Given the description of an element on the screen output the (x, y) to click on. 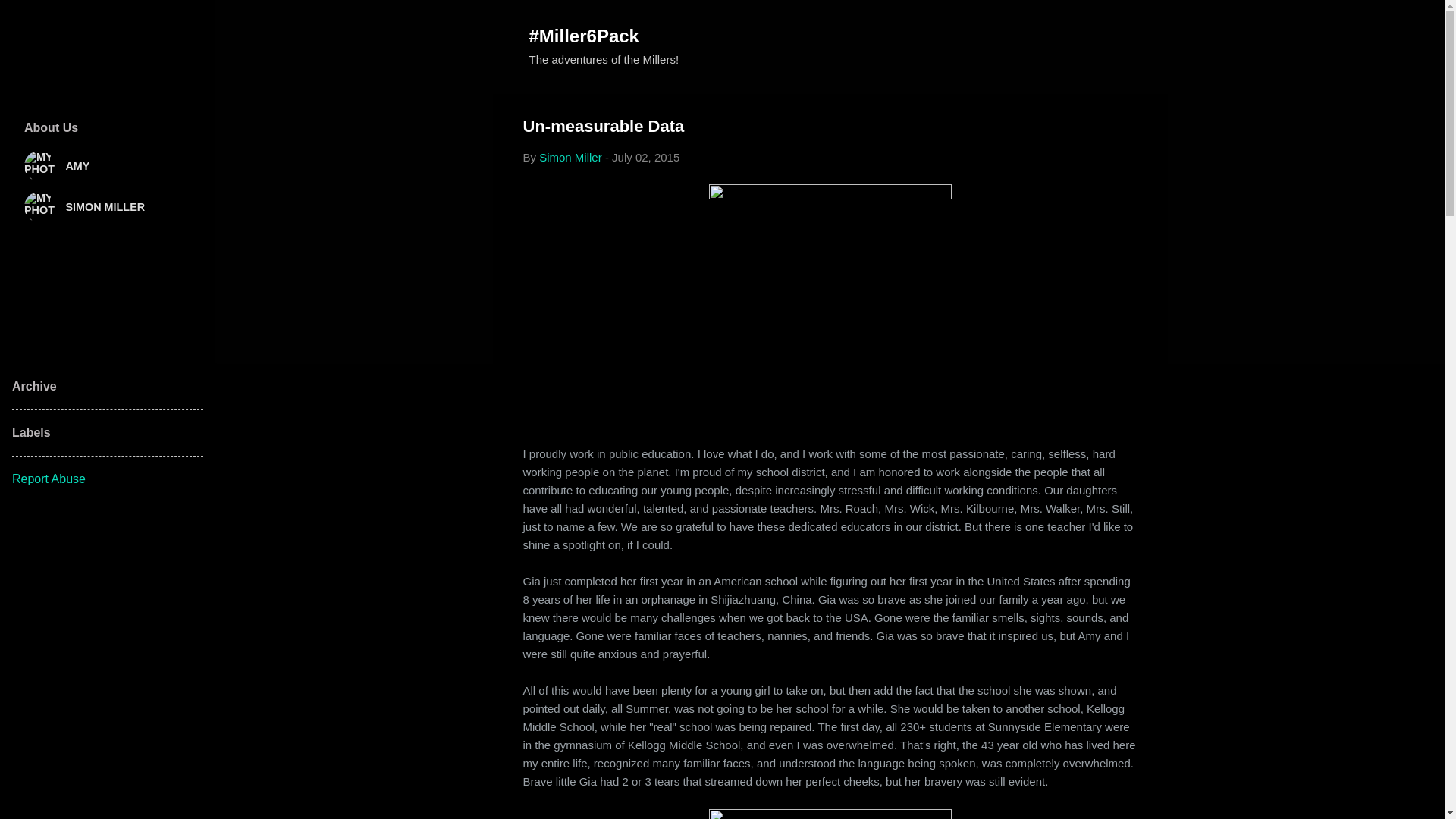
Search (29, 18)
permanent link (645, 156)
July 02, 2015 (645, 156)
author profile (570, 156)
Simon Miller (570, 156)
